Given the description of an element on the screen output the (x, y) to click on. 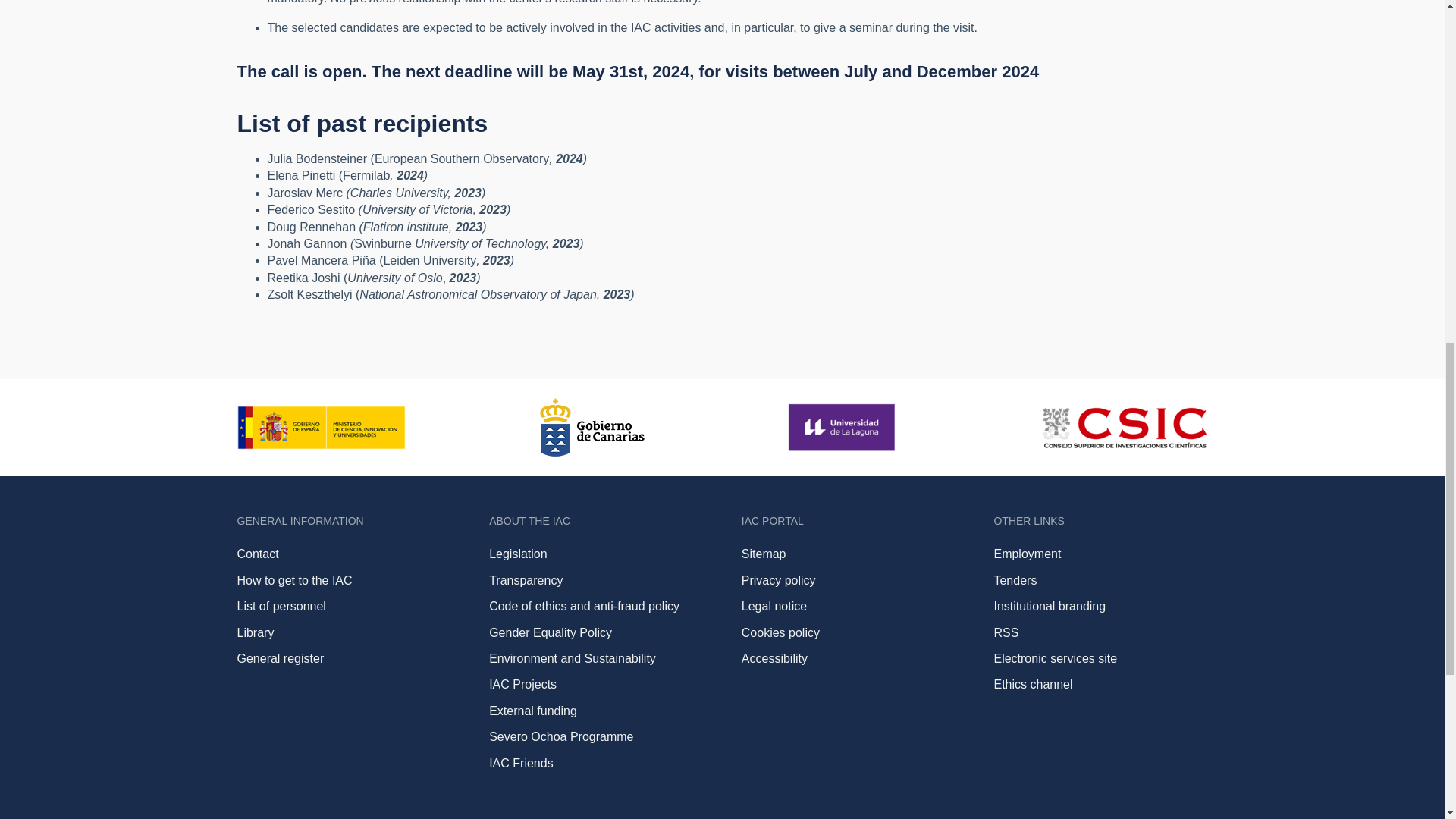
Universidad de La Laguna (842, 427)
CSIC (1124, 427)
Electronic services site (1054, 658)
Gobierno de Canarias (591, 427)
